Given the description of an element on the screen output the (x, y) to click on. 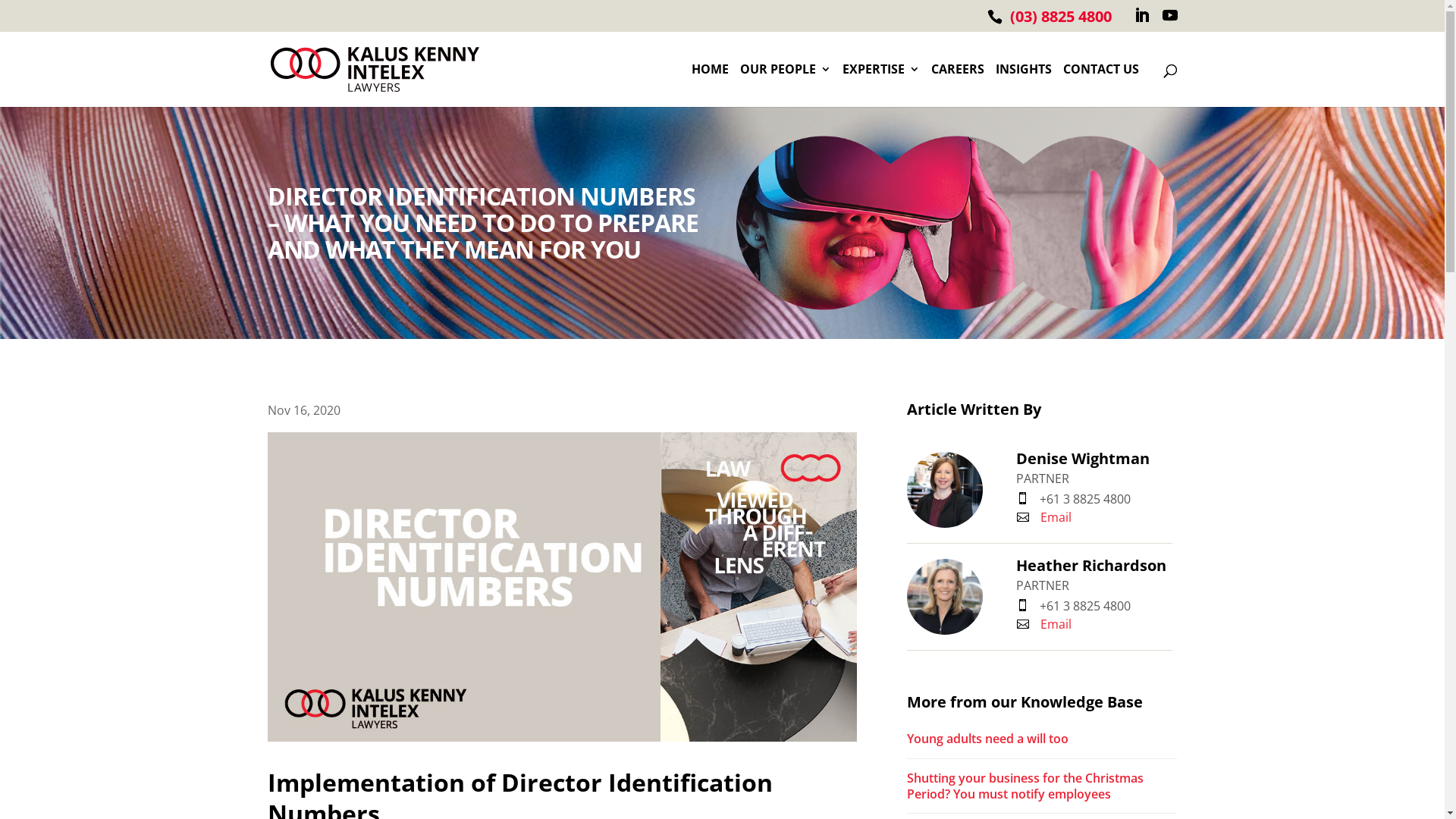
Director Identification Numbers Element type: hover (561, 586)
CONTACT US Element type: text (1101, 85)
Denise Wightman Element type: text (1094, 458)
HOME Element type: text (709, 85)
Denise Wightman Element type: hover (944, 489)
Email Element type: text (1043, 517)
EXPERTISE Element type: text (880, 85)
OUR PEOPLE Element type: text (785, 85)
Young adults need a will too Element type: text (1041, 742)
Email Element type: text (1043, 623)
test1 (1) Element type: hover (955, 222)
INSIGHTS Element type: text (1022, 85)
(03) 8825 4800 Element type: text (1060, 16)
CAREERS Element type: text (957, 85)
Heather Richardson Element type: hover (944, 596)
Heather Richardson Element type: text (1094, 565)
